Given the description of an element on the screen output the (x, y) to click on. 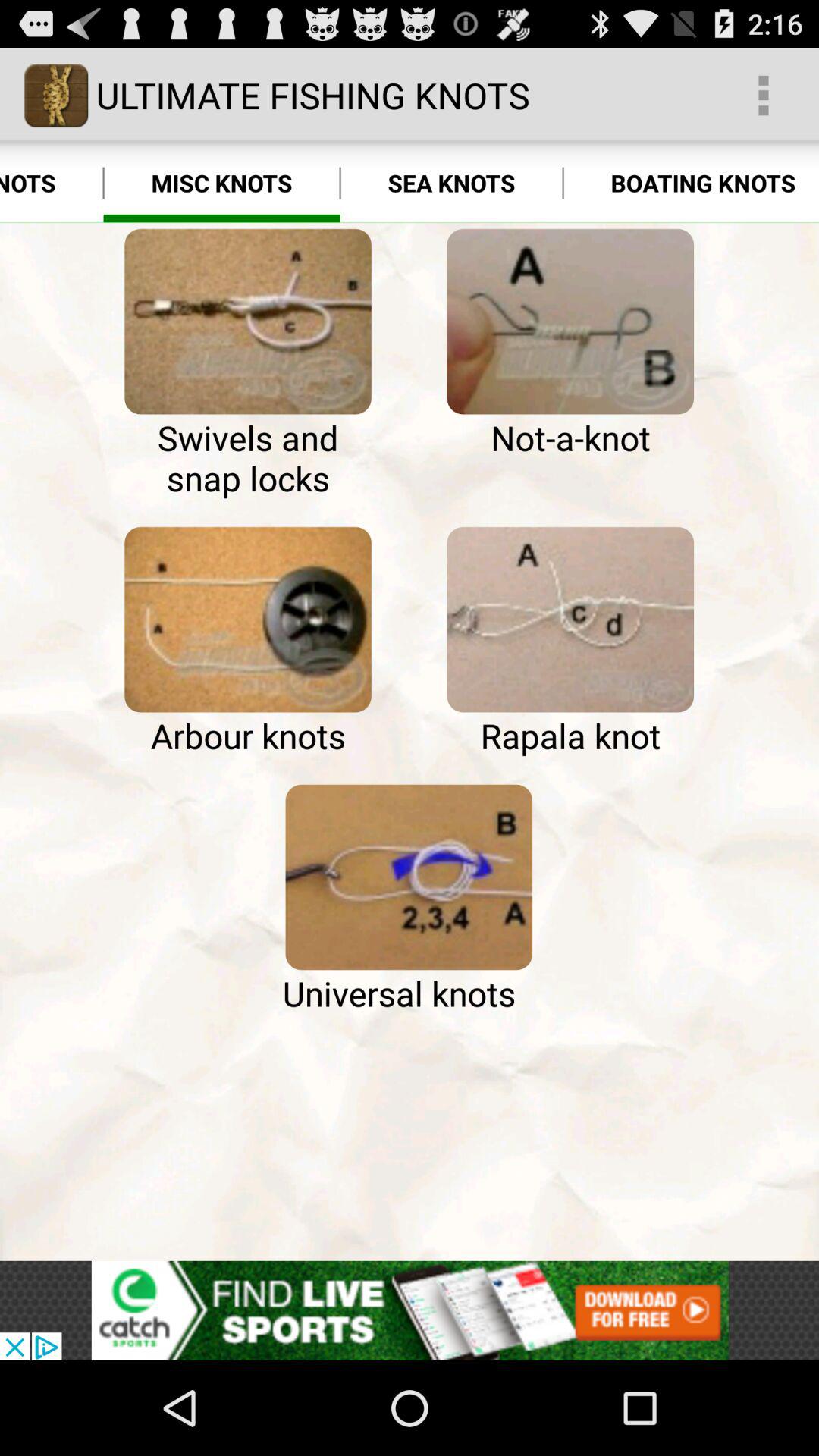
launch the app to the right of the hook knots icon (247, 321)
